Given the description of an element on the screen output the (x, y) to click on. 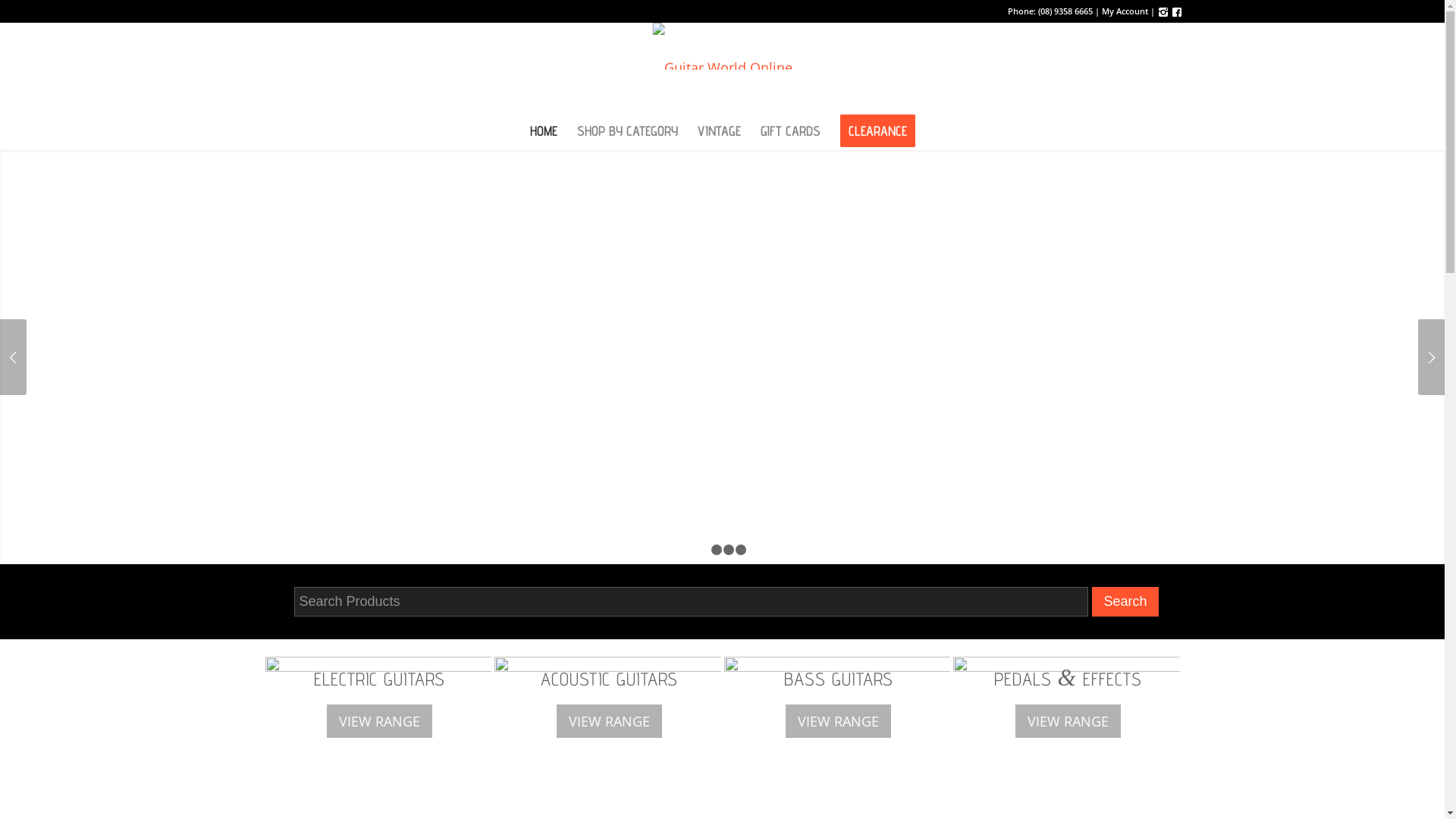
2 Element type: text (716, 549)
1 Element type: text (704, 549)
VIEW RANGE Element type: text (609, 721)
My Account Element type: text (1124, 10)
HOME Element type: text (543, 131)
GW-brand-col Element type: hover (722, 45)
3 Element type: text (728, 549)
Search Element type: text (1124, 601)
VIEW RANGE Element type: text (1068, 721)
GIFT CARDS Element type: text (790, 131)
VIEW RANGE Element type: text (379, 721)
GW-brand-col Element type: hover (722, 67)
4 Element type: text (740, 549)
Next Element type: text (1431, 357)
CLEARANCE Element type: text (876, 131)
VIEW RANGE Element type: text (838, 721)
VINTAGE Element type: text (718, 131)
Previous Element type: text (13, 357)
SHOP BY CATEGORY Element type: text (627, 131)
